Given the description of an element on the screen output the (x, y) to click on. 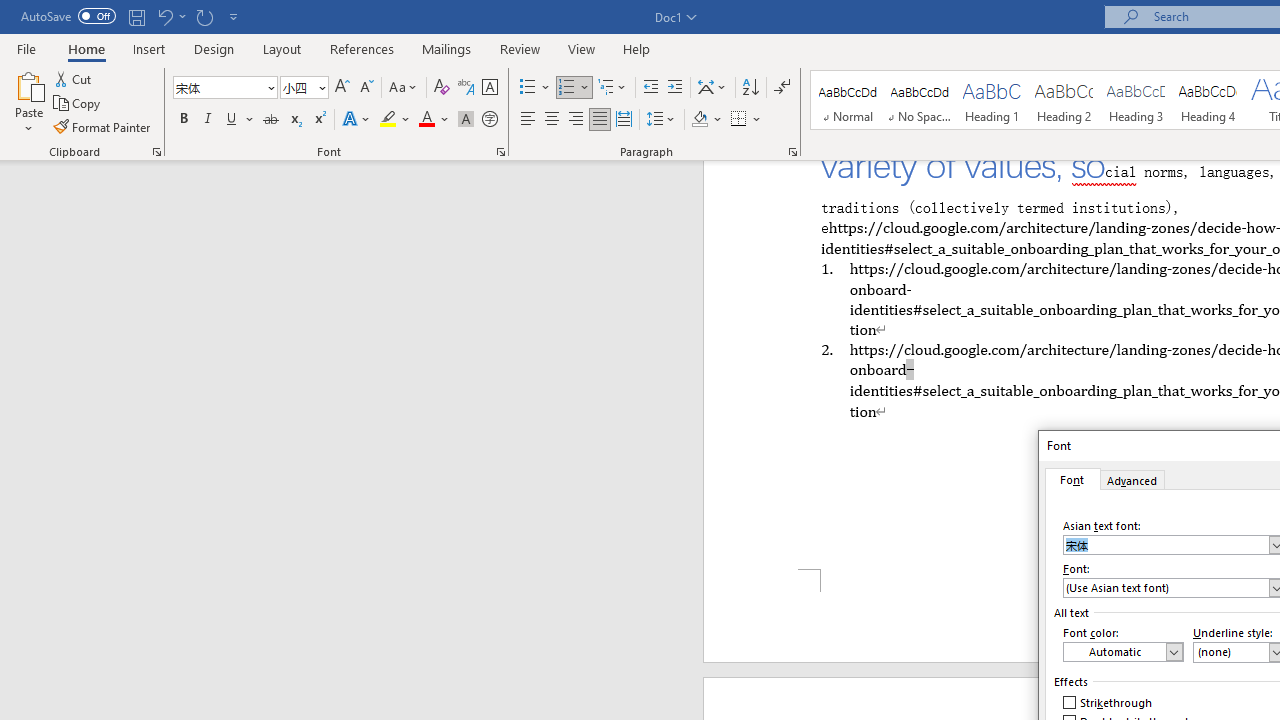
RichEdit Control (1166, 587)
Font... (500, 151)
Enclose Characters... (489, 119)
Distributed (623, 119)
Cut (73, 78)
Shrink Font (365, 87)
Asian Layout (712, 87)
Show/Hide Editing Marks (781, 87)
Repeat Style (204, 15)
